Given the description of an element on the screen output the (x, y) to click on. 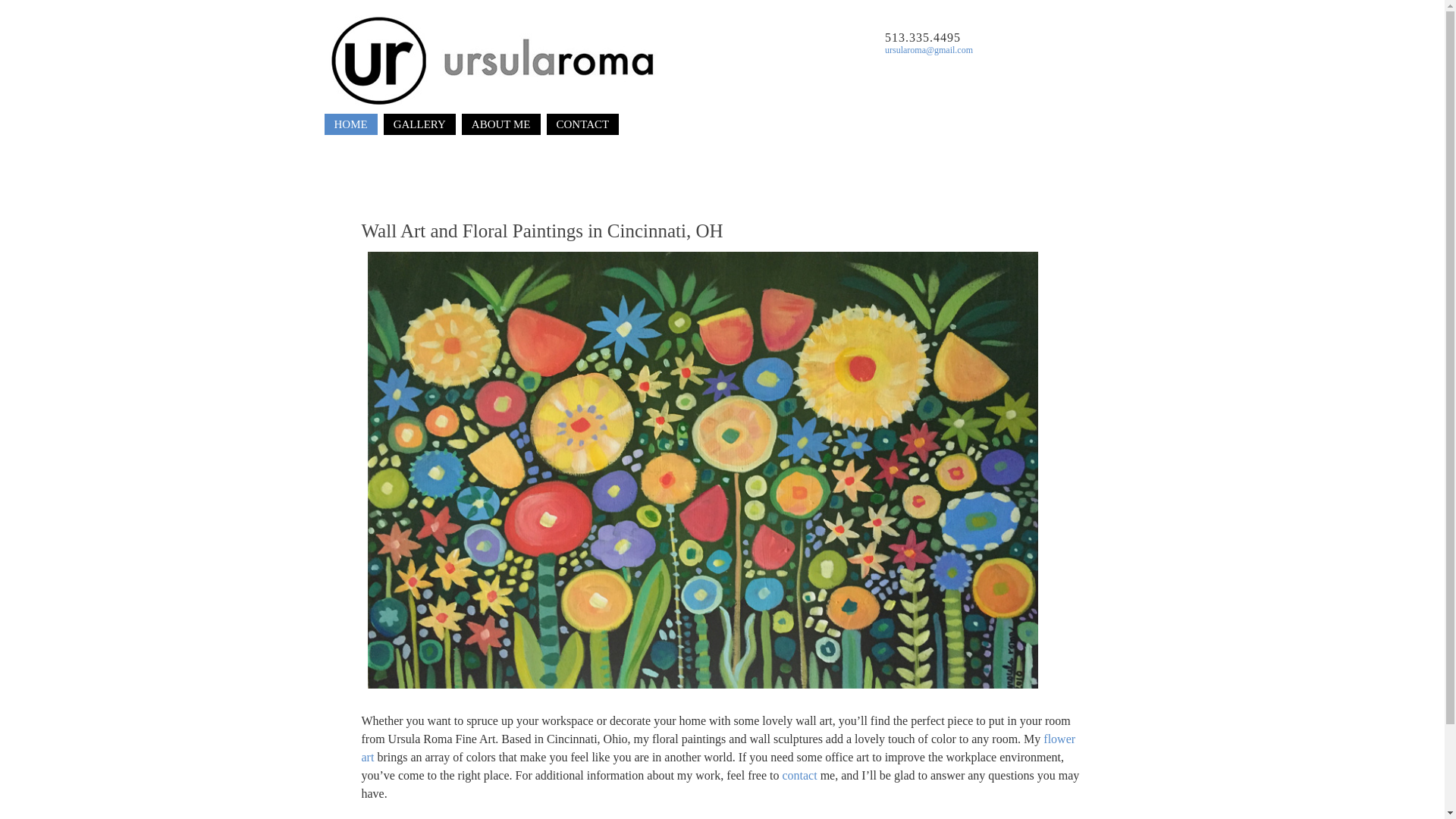
flower art (718, 747)
GALLERY (419, 124)
ABOUT ME (500, 124)
contact (798, 775)
HOME (350, 124)
CONTACT (582, 124)
